Given the description of an element on the screen output the (x, y) to click on. 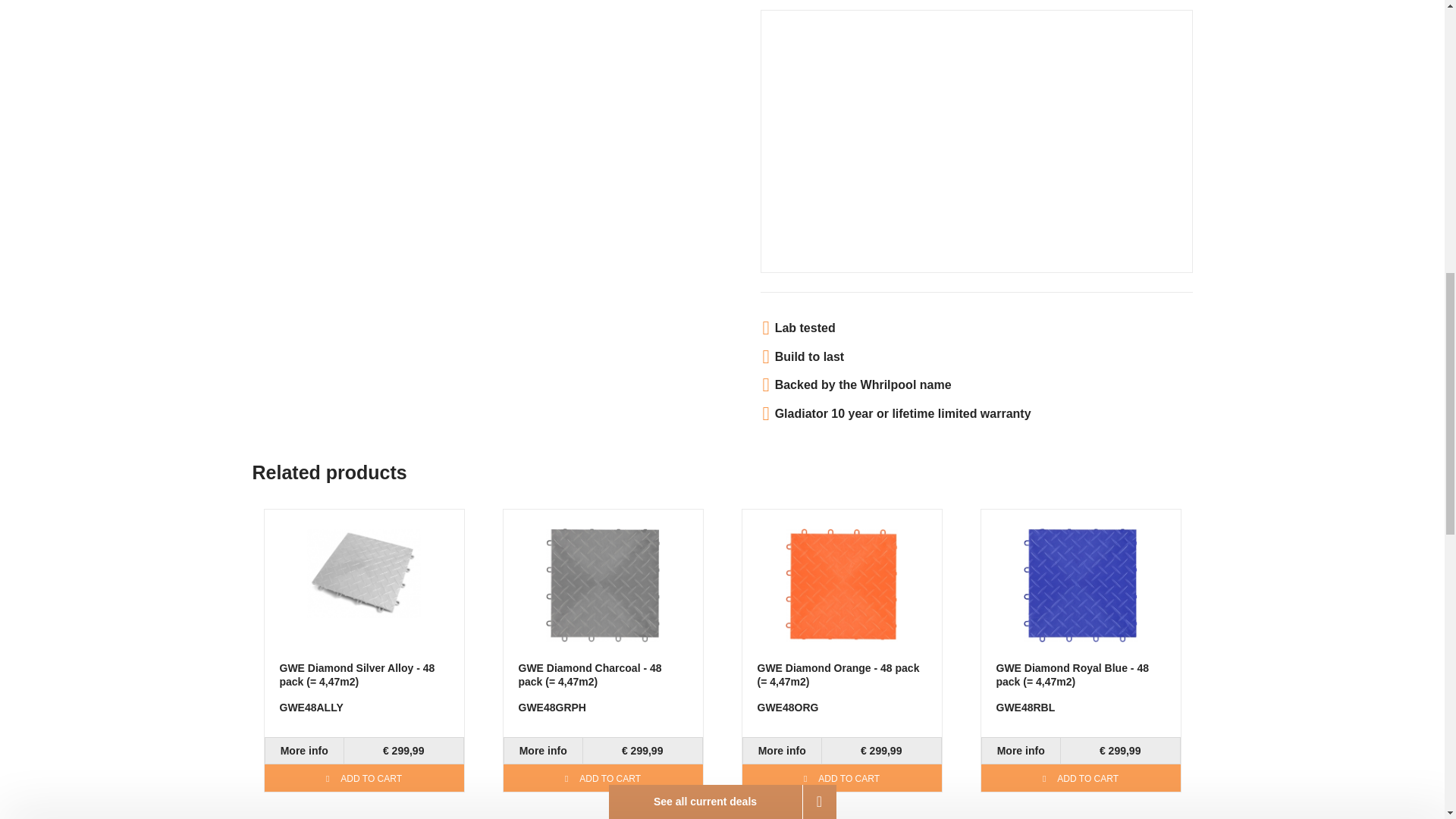
GWE48ALLY (303, 750)
